Given the description of an element on the screen output the (x, y) to click on. 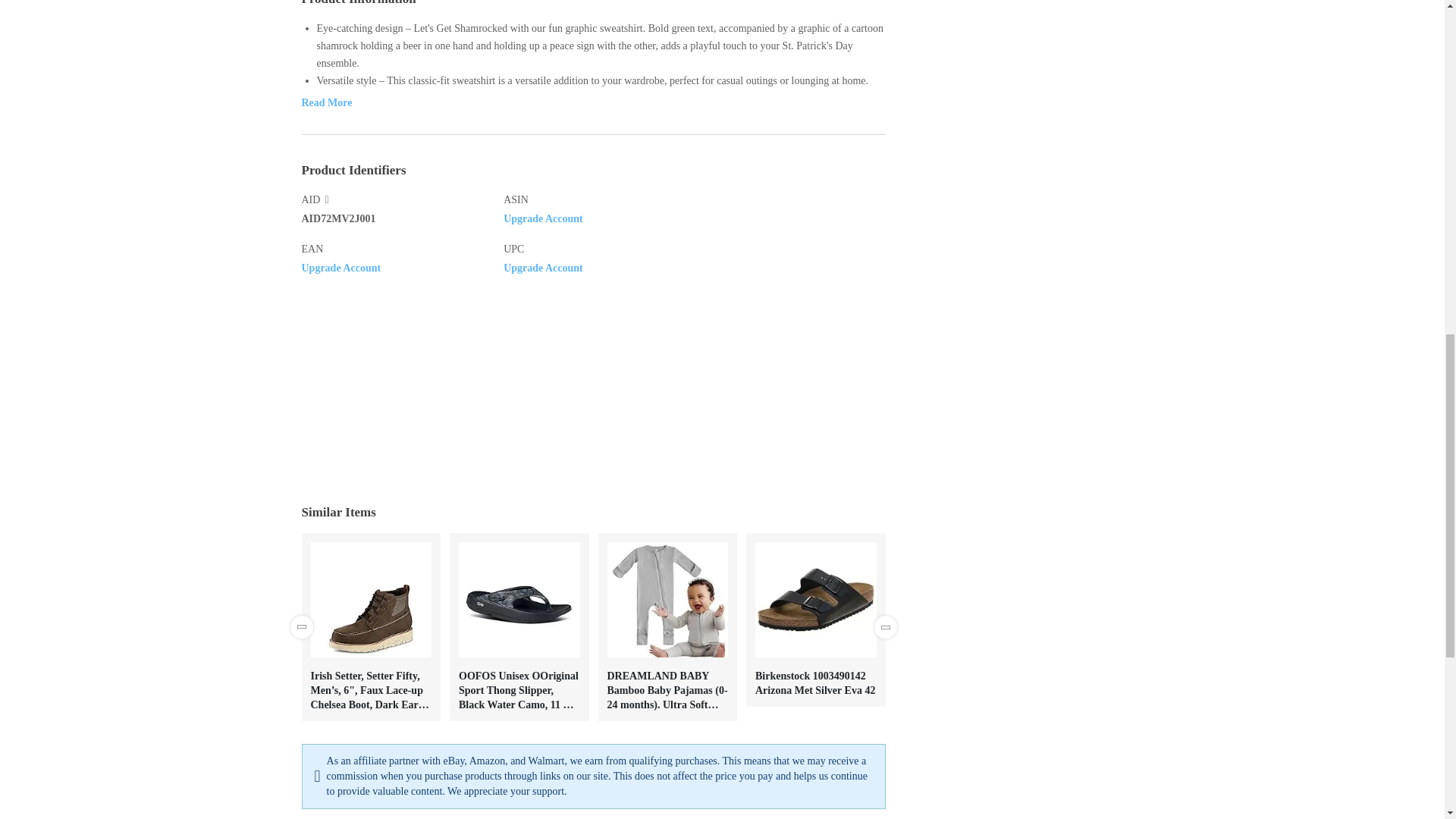
Upgrade Account (341, 267)
Upgrade Account (543, 267)
Upgrade Account (543, 217)
Advertisement (1032, 82)
